Given the description of an element on the screen output the (x, y) to click on. 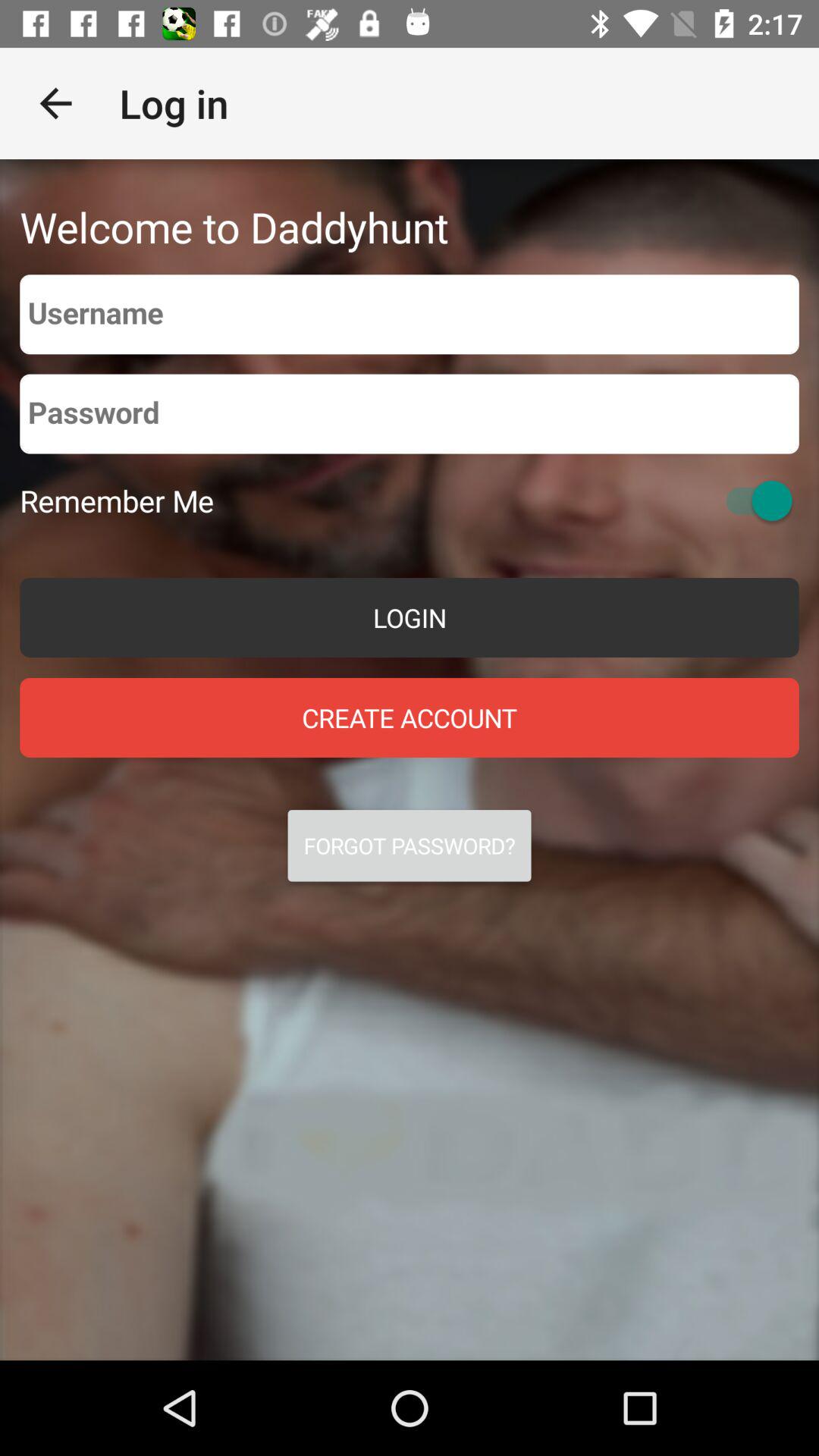
type password (409, 413)
